Given the description of an element on the screen output the (x, y) to click on. 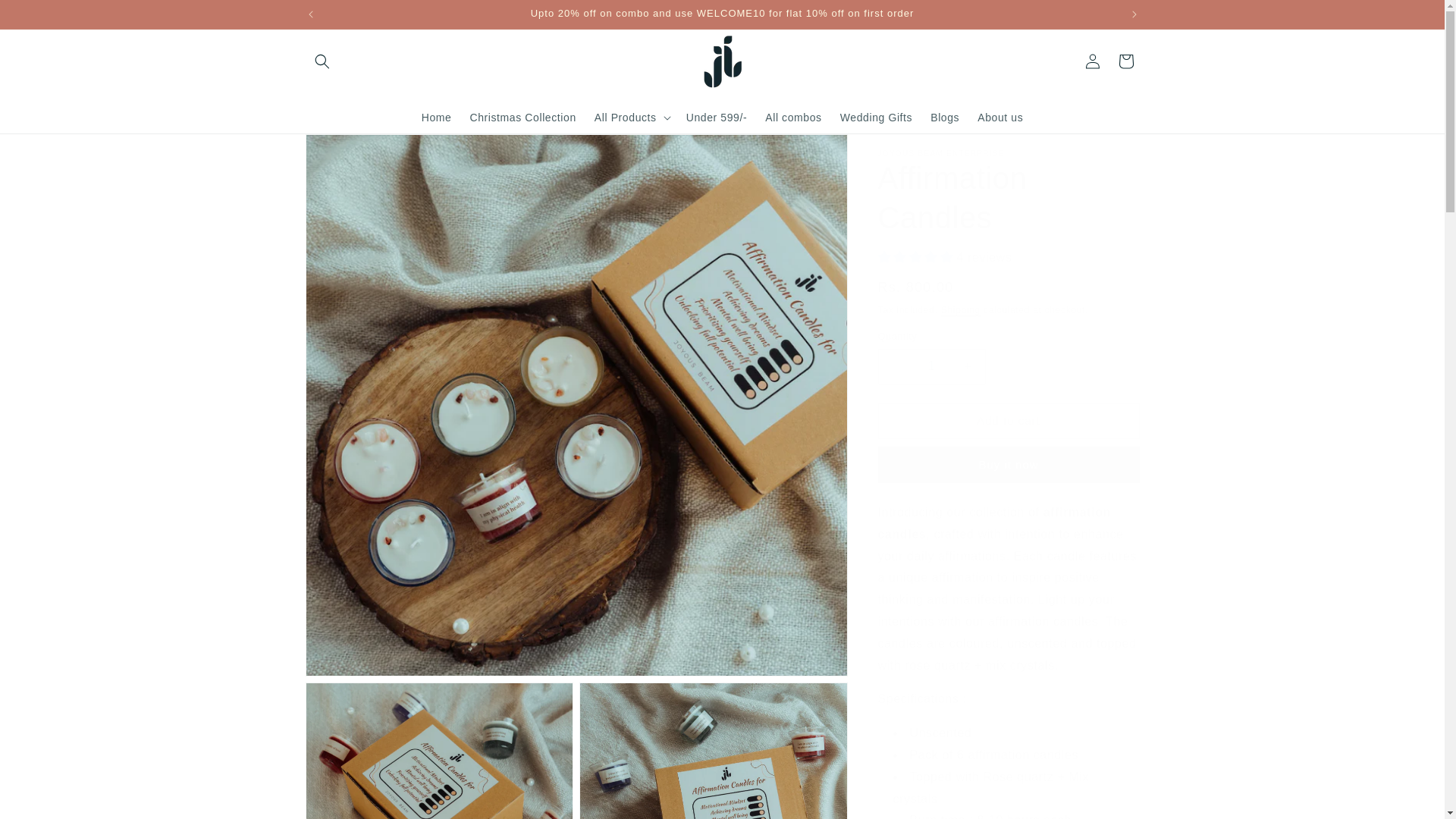
All combos (792, 117)
1 (931, 366)
Blogs (944, 117)
Open media 2 in modal (438, 750)
Christmas Collection (522, 117)
Open media 3 in modal (713, 750)
Home (436, 117)
Skip to content (45, 17)
Wedding Gifts (876, 117)
